Given the description of an element on the screen output the (x, y) to click on. 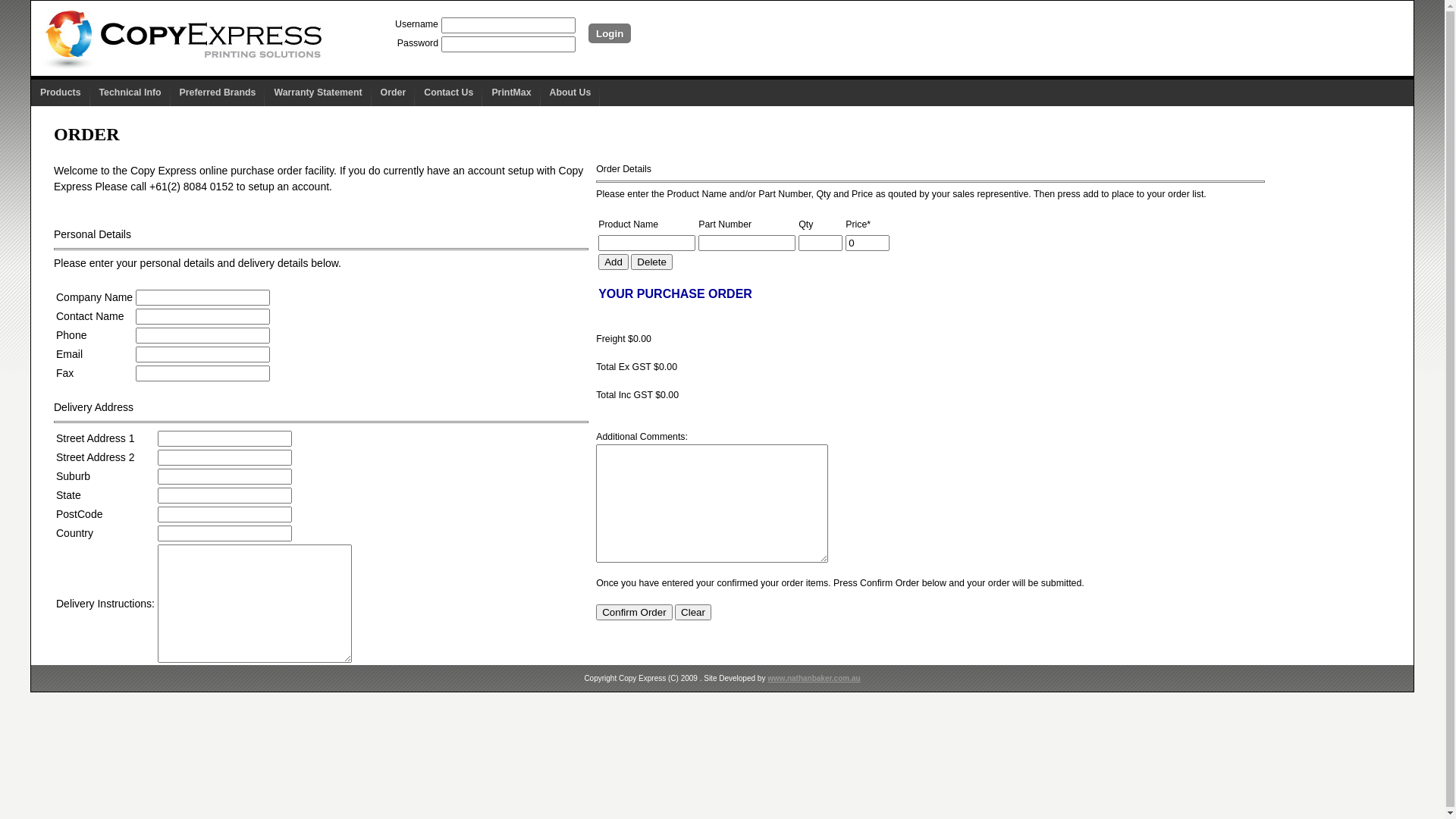
Login Element type: text (609, 33)
Preferred Brands Element type: text (217, 92)
www.nathanbaker.com.au Element type: text (813, 678)
Delete Element type: text (651, 261)
Confirm Order Element type: text (633, 612)
Order Element type: text (393, 92)
About Us Element type: text (570, 92)
Warranty Statement Element type: text (317, 92)
Products Element type: text (60, 92)
Technical Info Element type: text (129, 92)
Contact Us Element type: text (448, 92)
Add Element type: text (613, 261)
PrintMax Element type: text (510, 92)
